Given the description of an element on the screen output the (x, y) to click on. 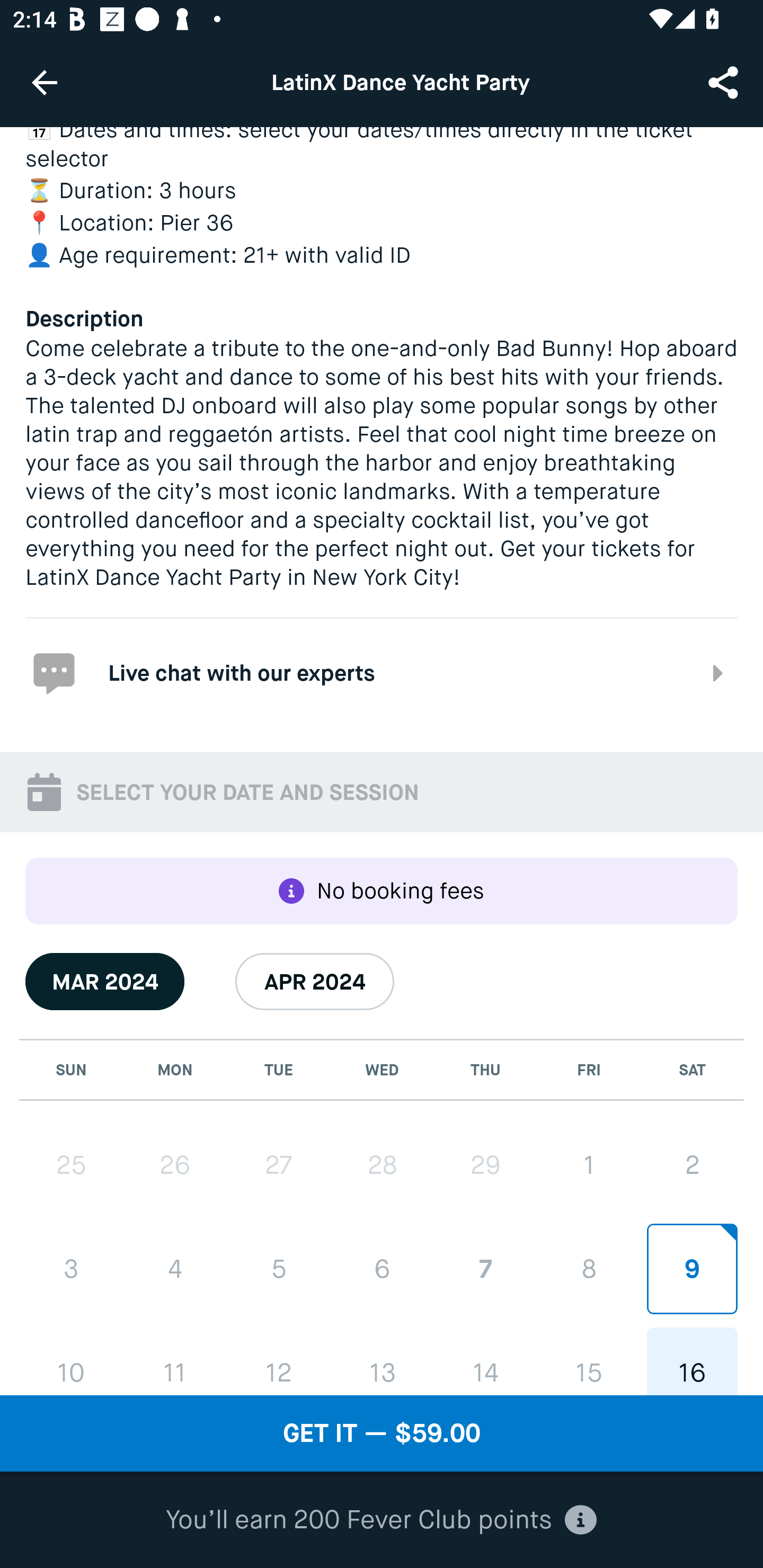
Navigate up (44, 82)
Share (724, 81)
Live chat with our experts (381, 672)
MAR 2024 (104, 981)
APR 2024 (314, 981)
25 (70, 1164)
26 (174, 1164)
27 (278, 1164)
28 (382, 1164)
29 (485, 1164)
1 (588, 1164)
2 (692, 1164)
3 (70, 1269)
4 (174, 1269)
5 (278, 1269)
6 (382, 1268)
7 (485, 1268)
8 (588, 1268)
9 (692, 1268)
10 (70, 1361)
11 (174, 1361)
12 (278, 1361)
13 (382, 1361)
14 (485, 1361)
15 (588, 1361)
16 (692, 1361)
GET IT — $59.00 (381, 1433)
You’ll earn 200 Fever Club points (380, 1519)
